Given the description of an element on the screen output the (x, y) to click on. 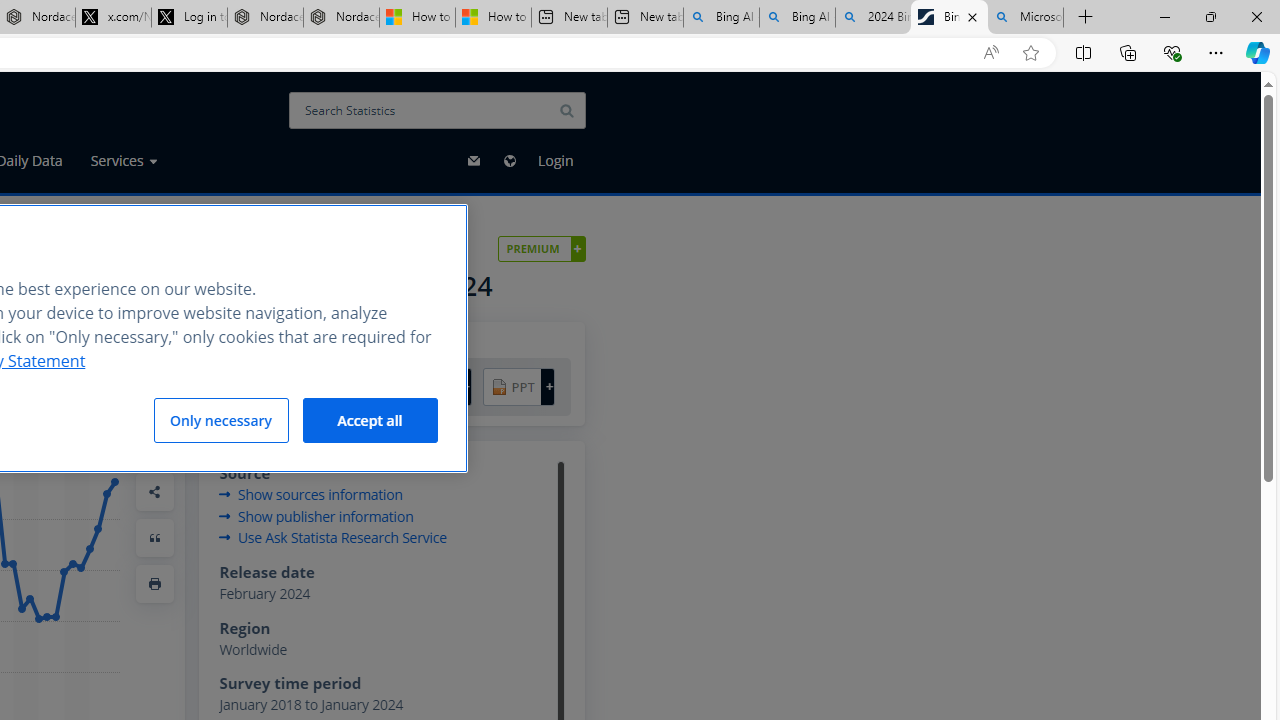
Settings (155, 445)
PPT + (518, 386)
Citation (155, 537)
Account overview (541, 248)
Only necessary (221, 420)
Login (556, 160)
XLS + (349, 386)
Bing AI - Search (797, 17)
Class: navMain__item navMain__item--responsiveEn (509, 160)
